Given the description of an element on the screen output the (x, y) to click on. 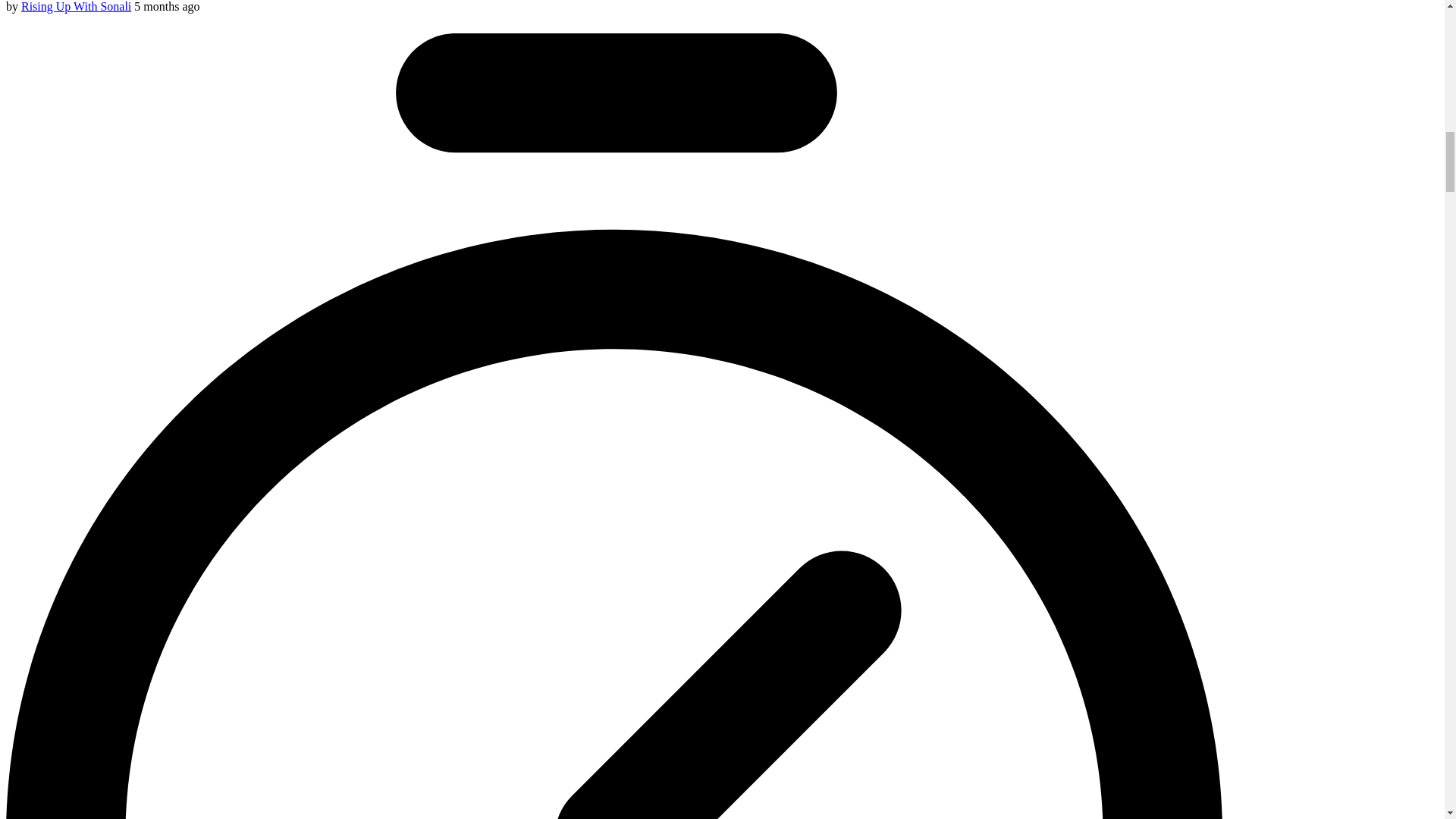
Rising Up With Sonali (76, 6)
